Given the description of an element on the screen output the (x, y) to click on. 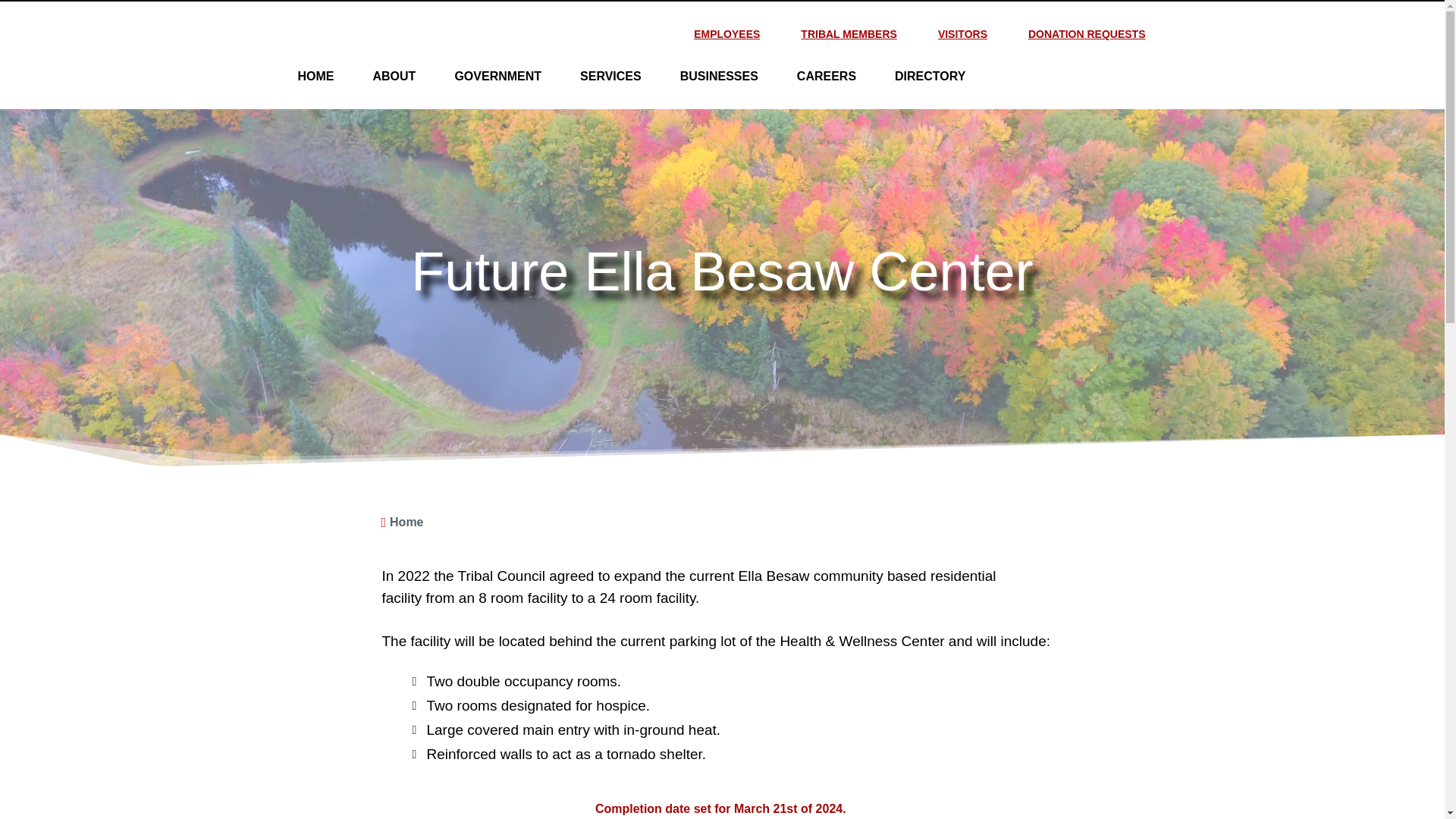
SERVICES (610, 76)
VISITORS (962, 34)
GOVERNMENT (497, 76)
DONATION REQUESTS (1086, 34)
HOME (316, 76)
ABOUT (393, 76)
TRIBAL MEMBERS (848, 34)
EMPLOYEES (726, 34)
